Given the description of an element on the screen output the (x, y) to click on. 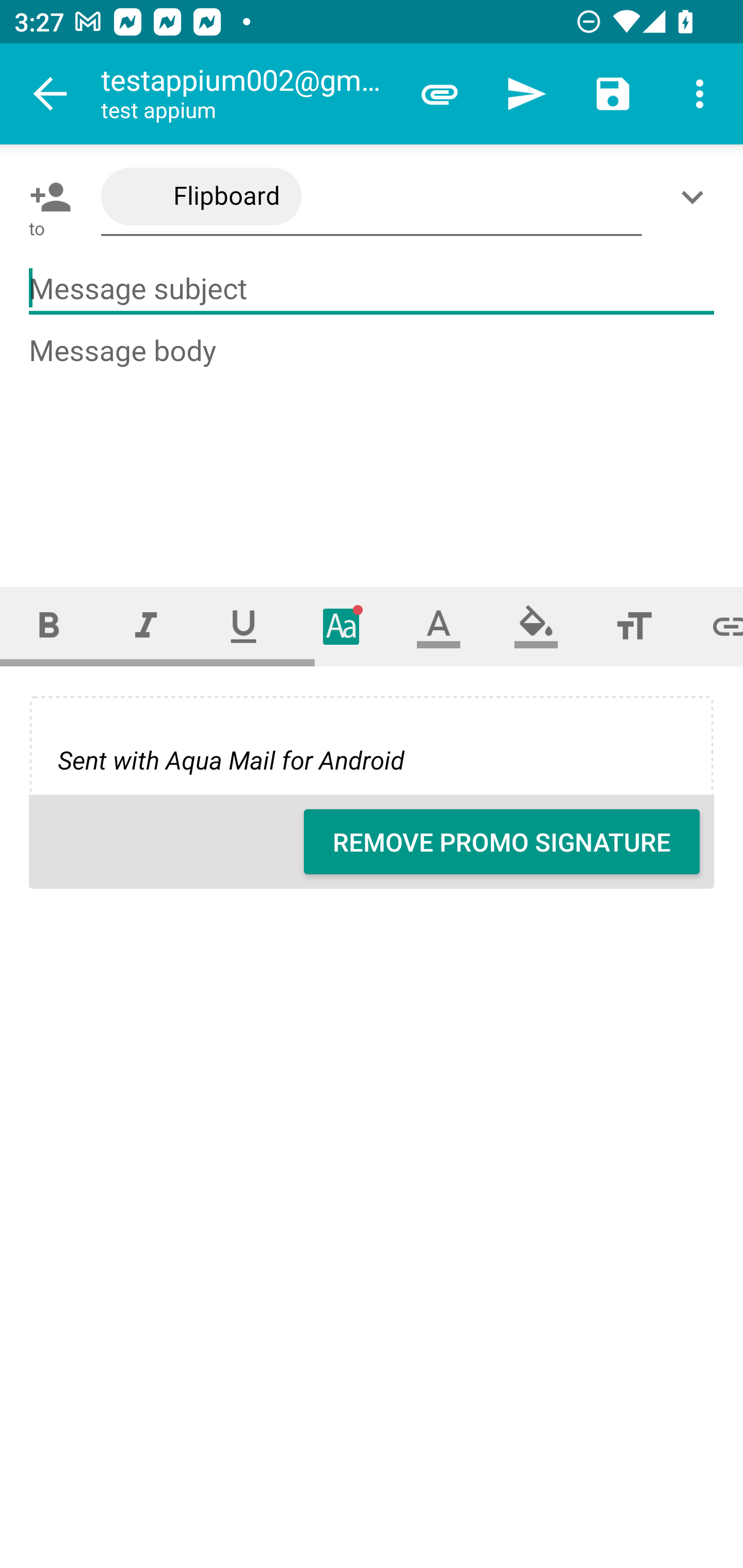
Navigate up (50, 93)
testappium002@gmail.com test appium (248, 93)
Attach (439, 93)
Send (525, 93)
Save (612, 93)
More options (699, 93)
Flipboard <editorialstaff@flipboard.com>,  (371, 197)
Pick contact: To (46, 196)
Show/Add CC/BCC (696, 196)
Message subject (371, 288)
Message body (372, 442)
Bold (48, 626)
Italic (145, 626)
Underline (243, 626)
Typeface (font) (341, 626)
Text color (438, 626)
Fill color (536, 626)
Font size (633, 626)
REMOVE PROMO SIGNATURE (501, 841)
